Given the description of an element on the screen output the (x, y) to click on. 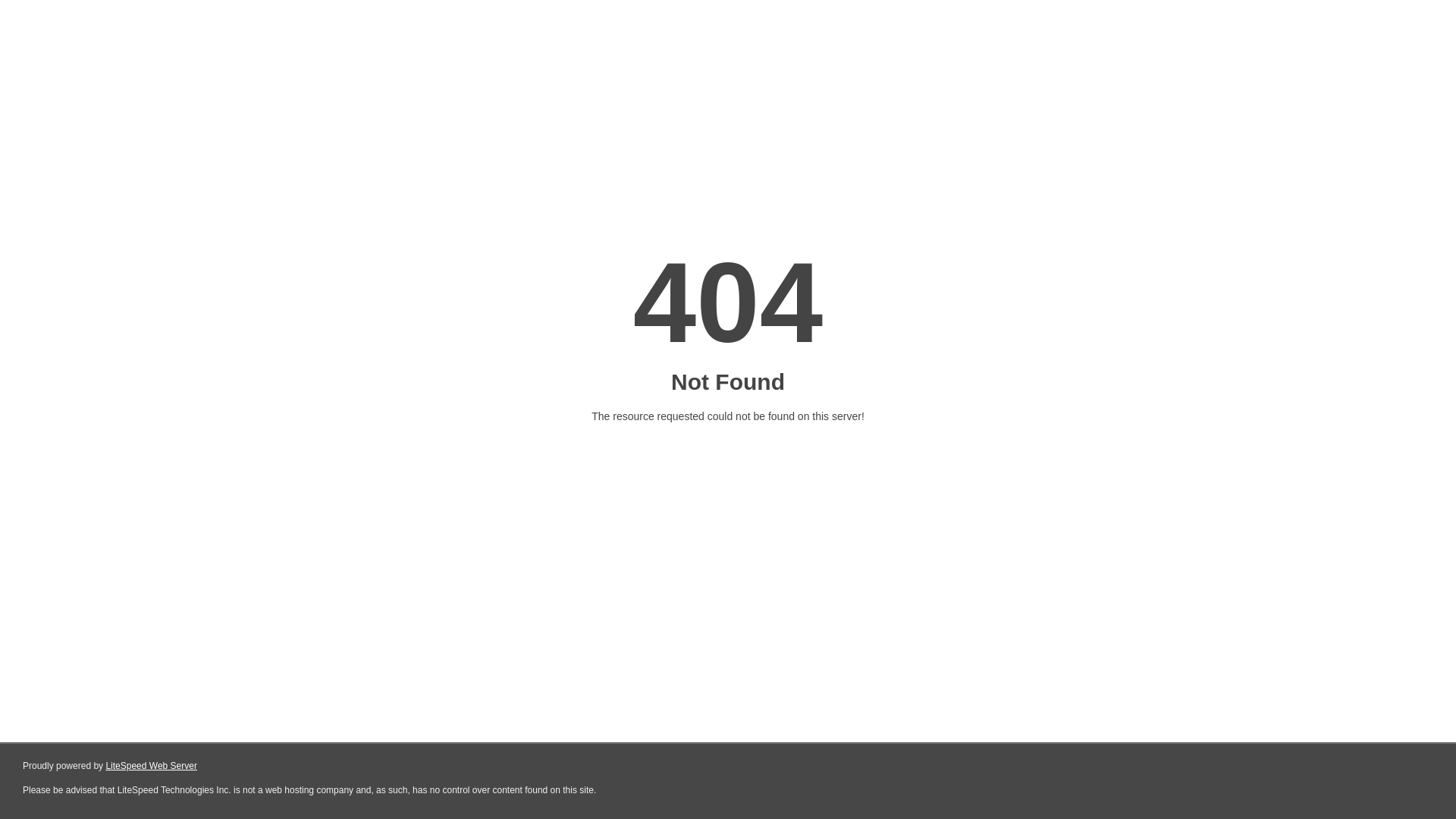
LiteSpeed Web Server Element type: text (151, 765)
